Given the description of an element on the screen output the (x, y) to click on. 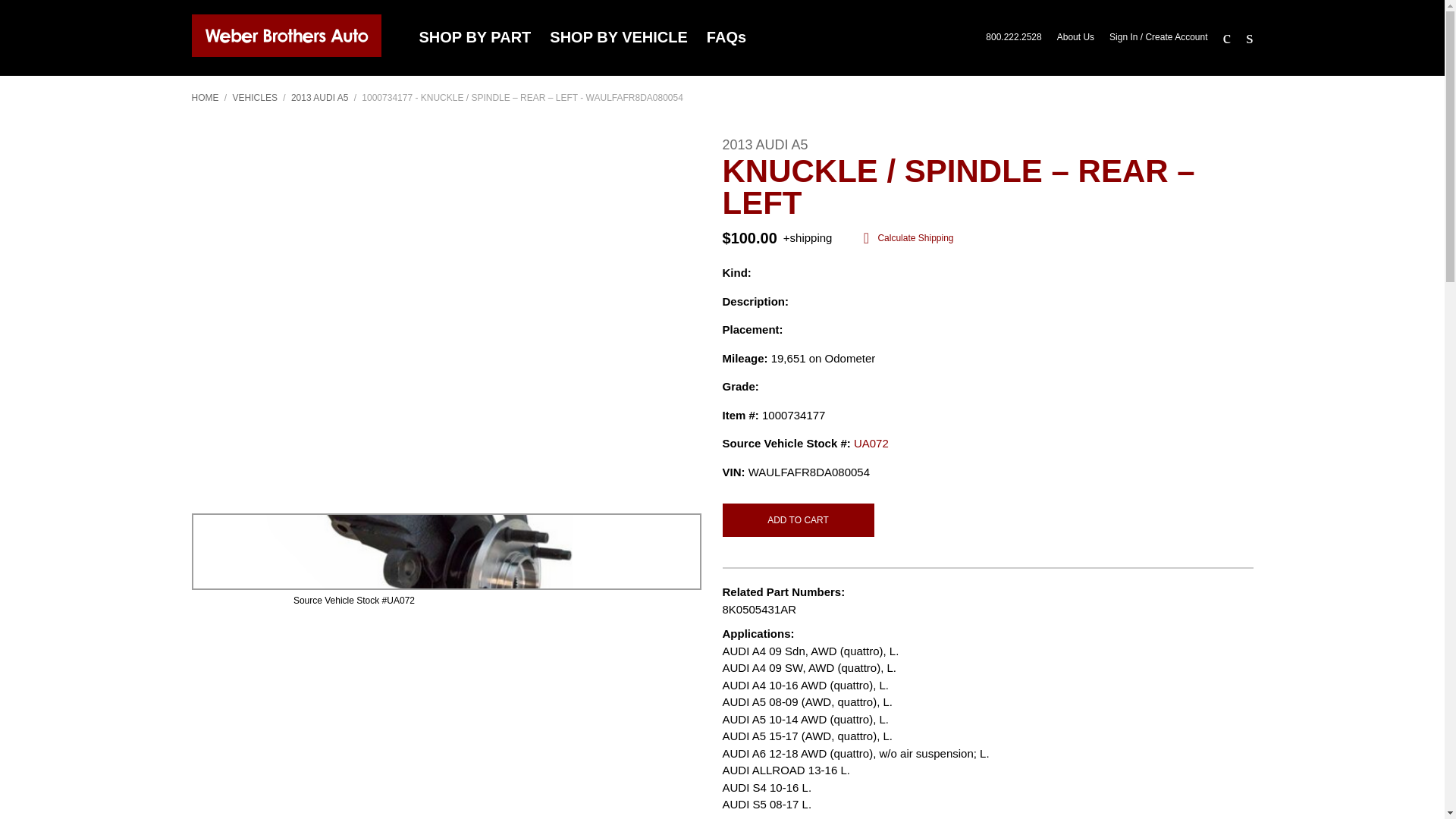
2013 AUDI A5 (319, 97)
SHOP BY VEHICLE (618, 37)
VEHICLES (255, 97)
HOME (204, 97)
Calculate Shipping (906, 237)
800.222.2528 (1013, 37)
SHOP BY PART (475, 37)
About Us (1075, 37)
FAQs (725, 37)
